Given the description of an element on the screen output the (x, y) to click on. 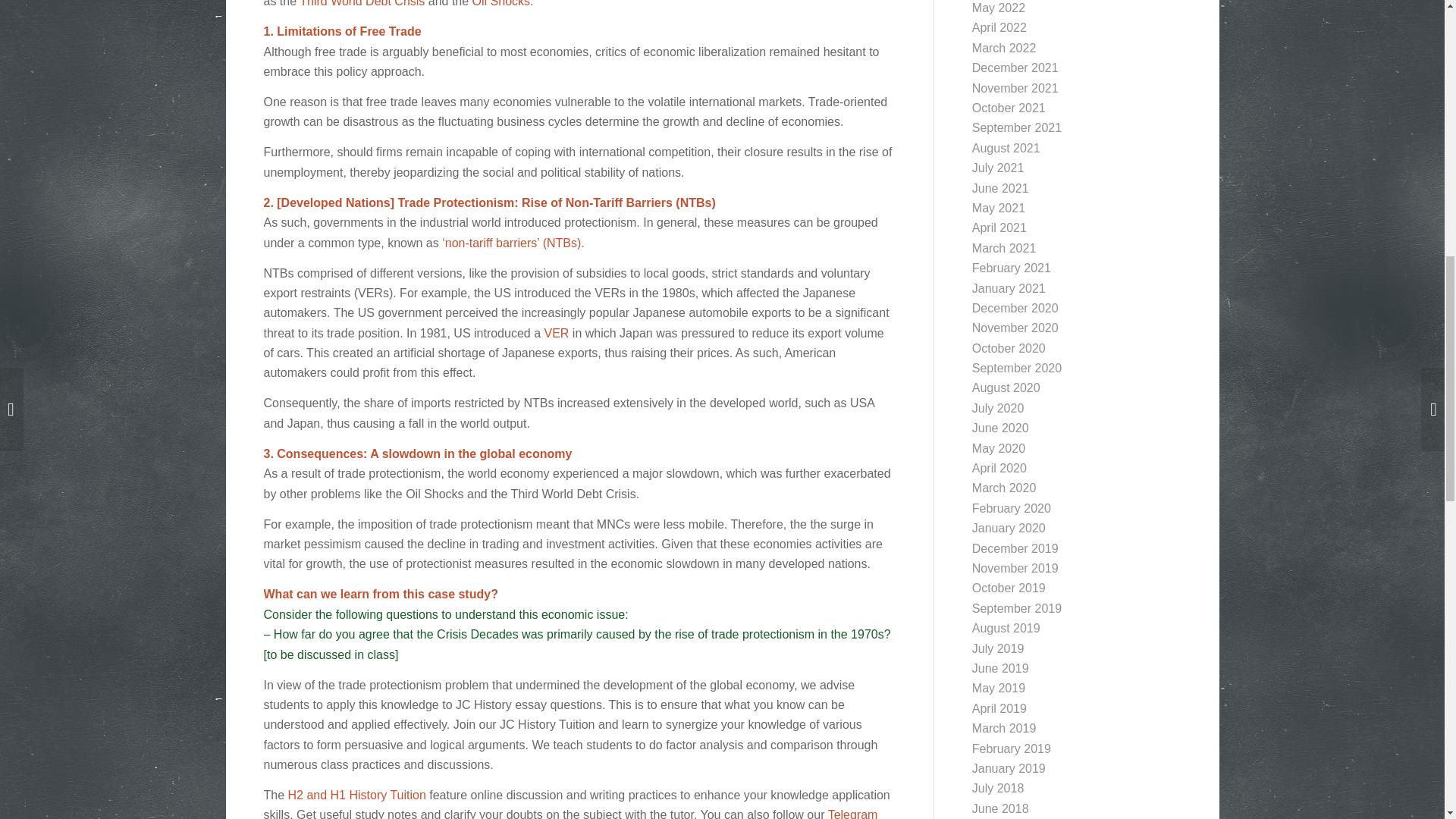
H2 and H1 History Tuition (357, 794)
Oil Shocks (500, 3)
Telegram Channel (570, 813)
Third World Debt Crisis (362, 3)
VER (556, 332)
